Given the description of an element on the screen output the (x, y) to click on. 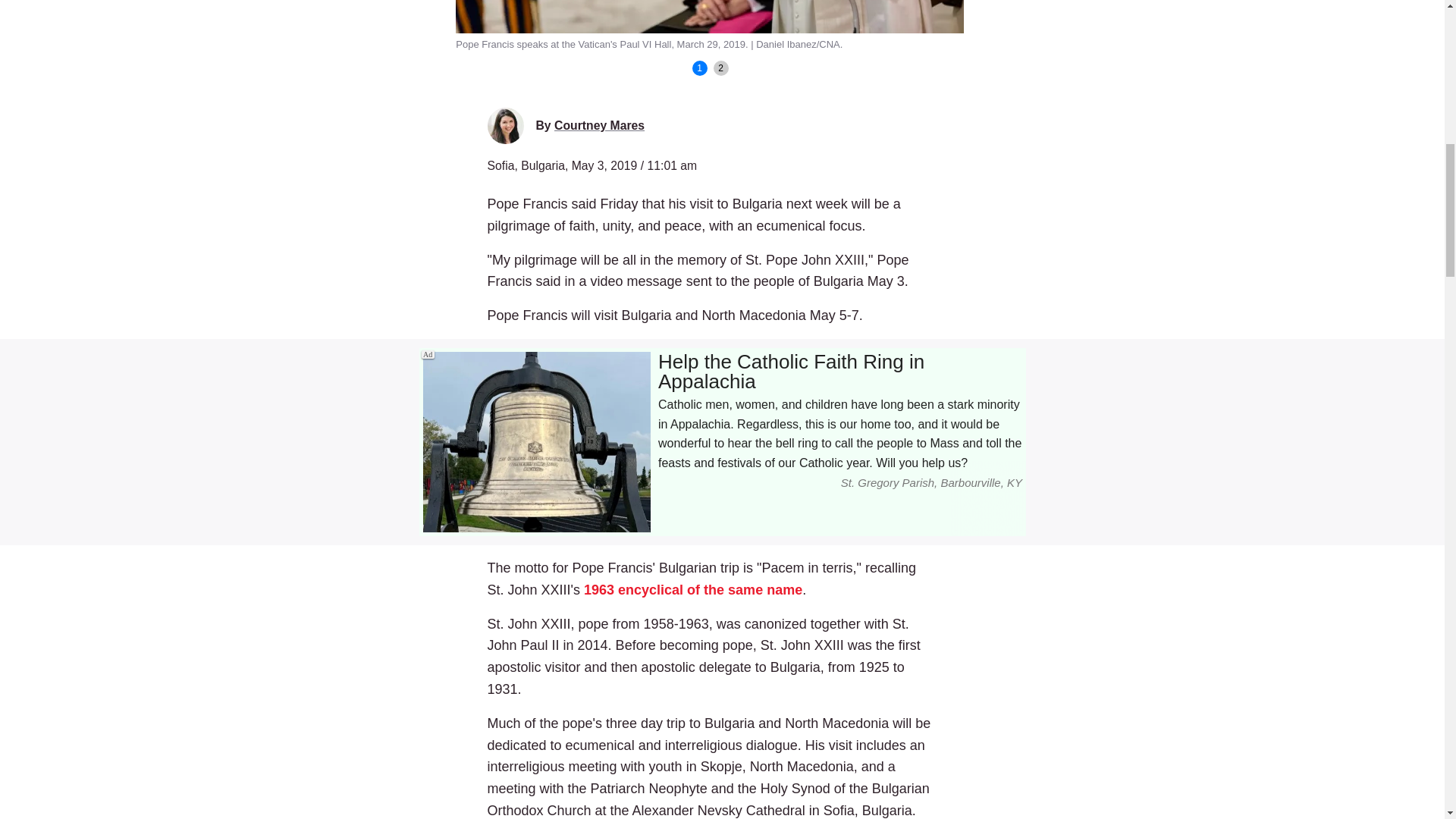
3rd party ad content (722, 442)
